Given the description of an element on the screen output the (x, y) to click on. 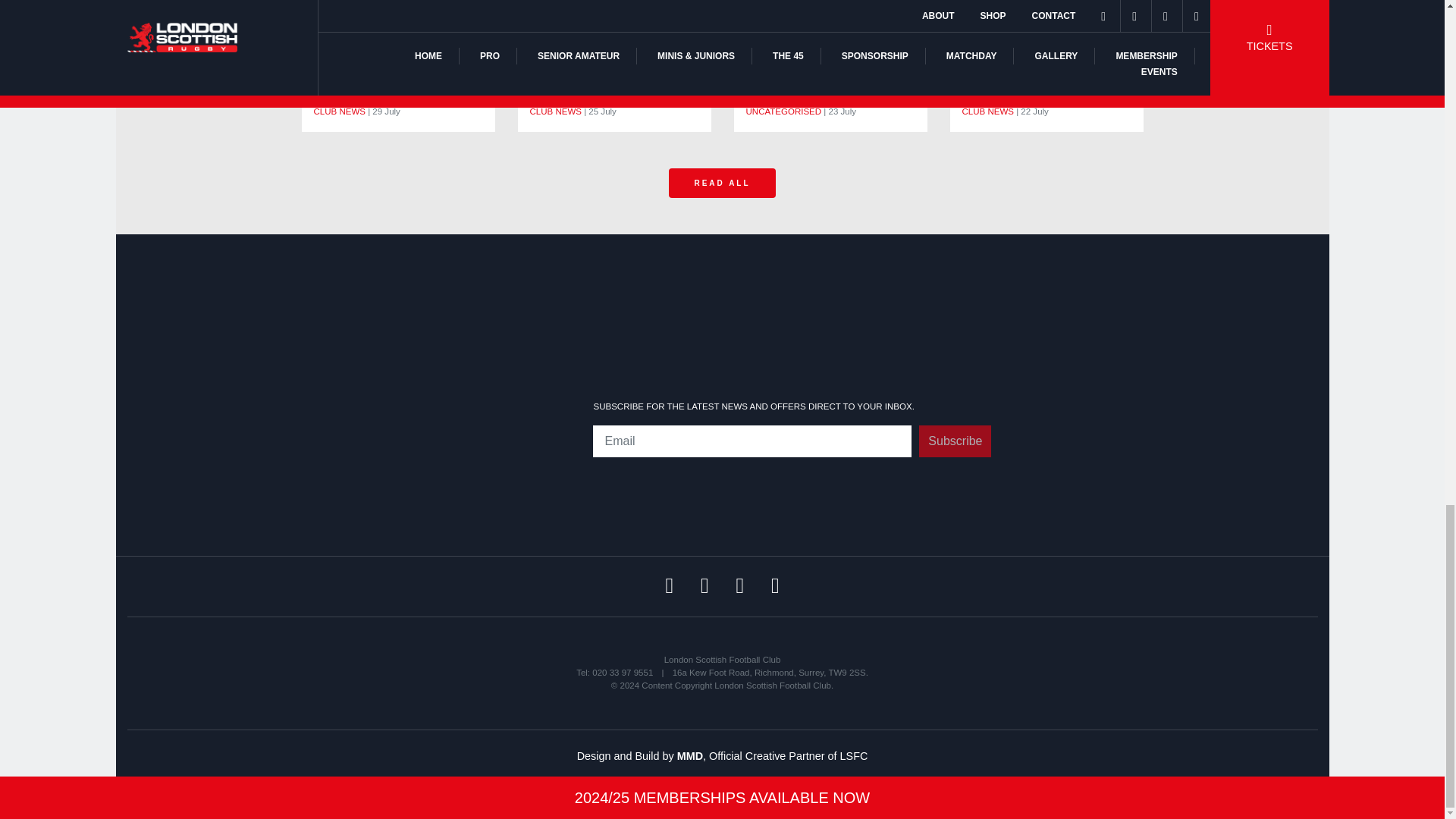
Subscribe (954, 441)
